Given the description of an element on the screen output the (x, y) to click on. 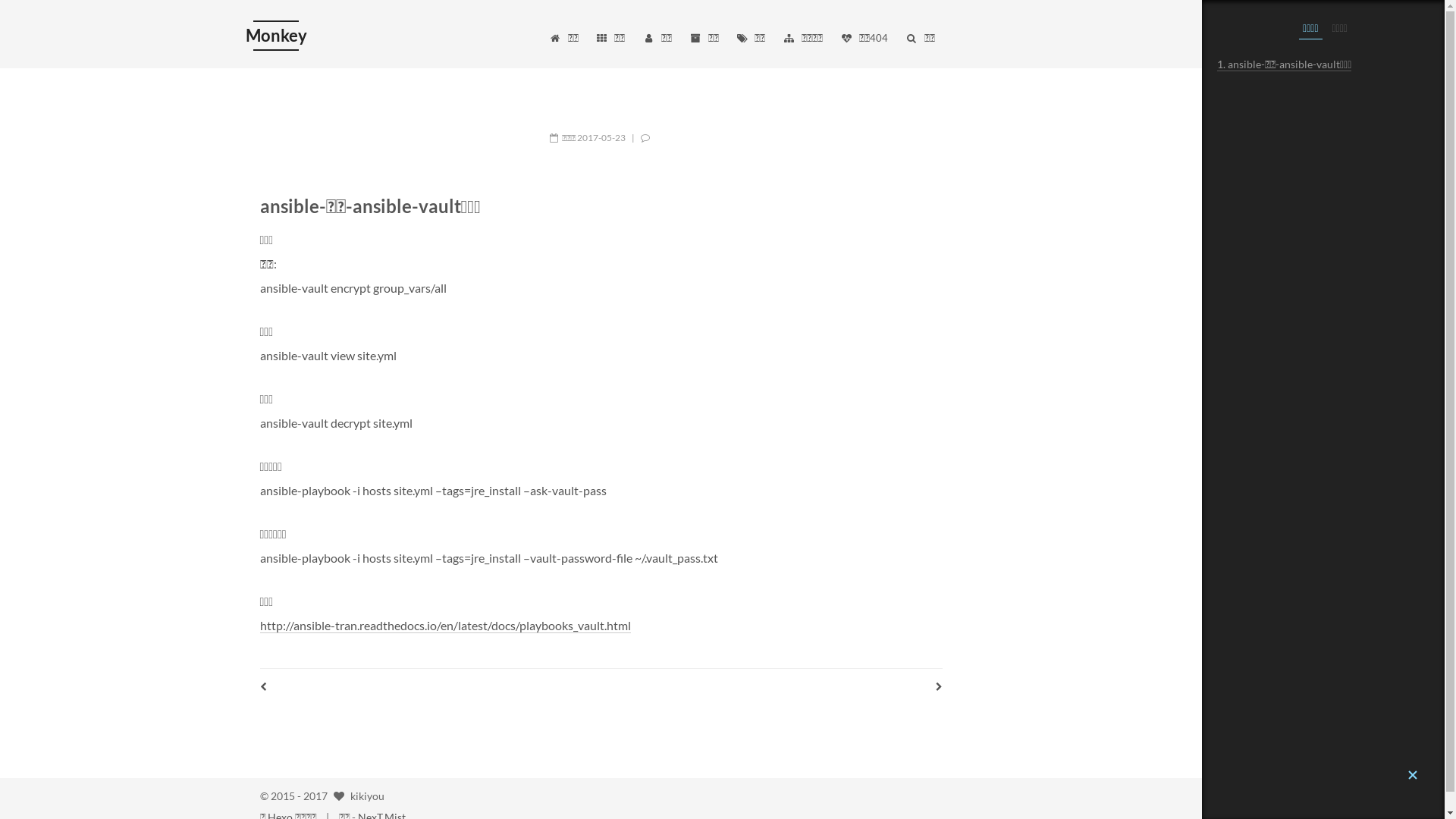
Monkey Element type: text (275, 35)
